Given the description of an element on the screen output the (x, y) to click on. 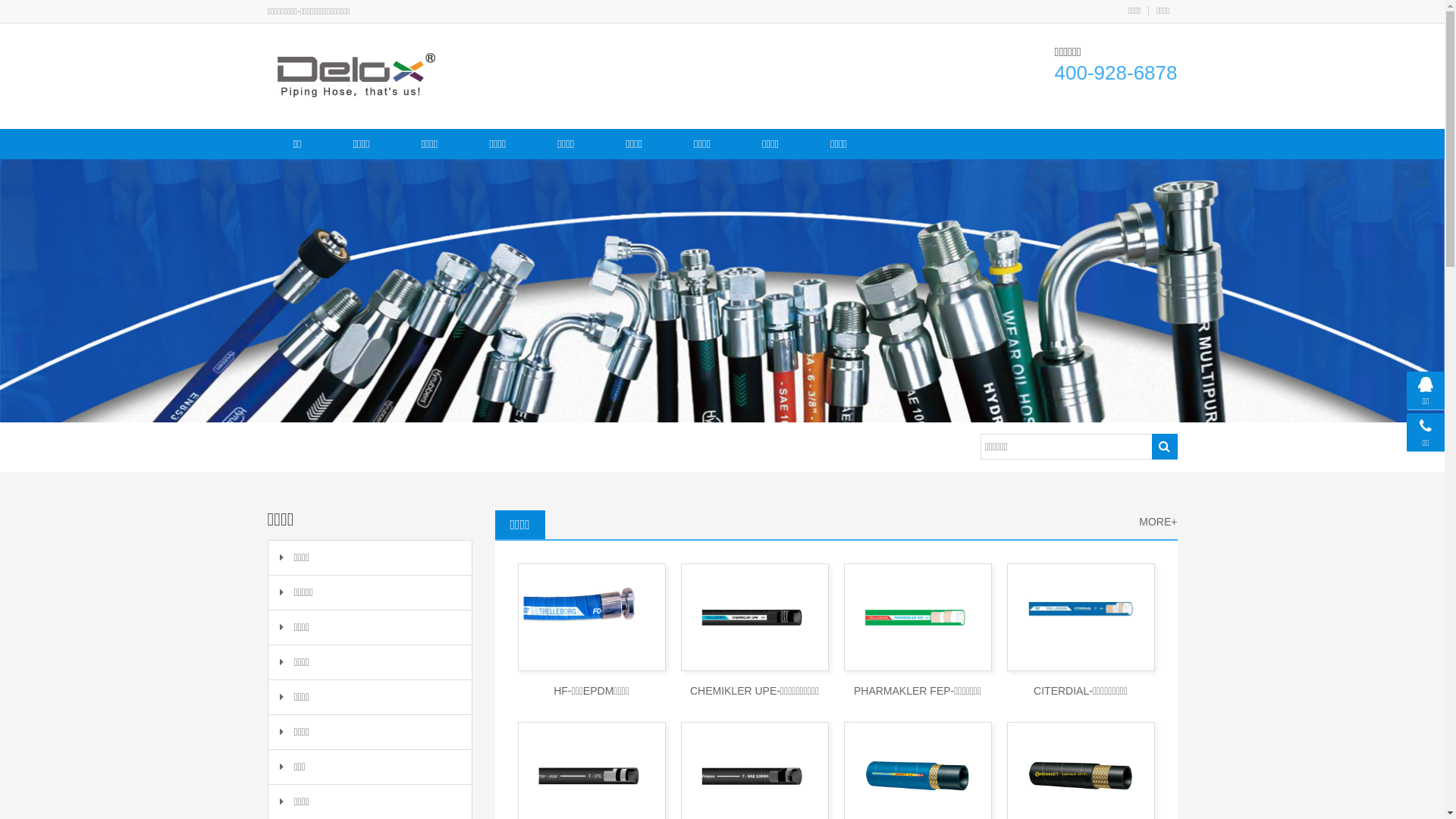
MORE+ Element type: text (1157, 521)
